Given the description of an element on the screen output the (x, y) to click on. 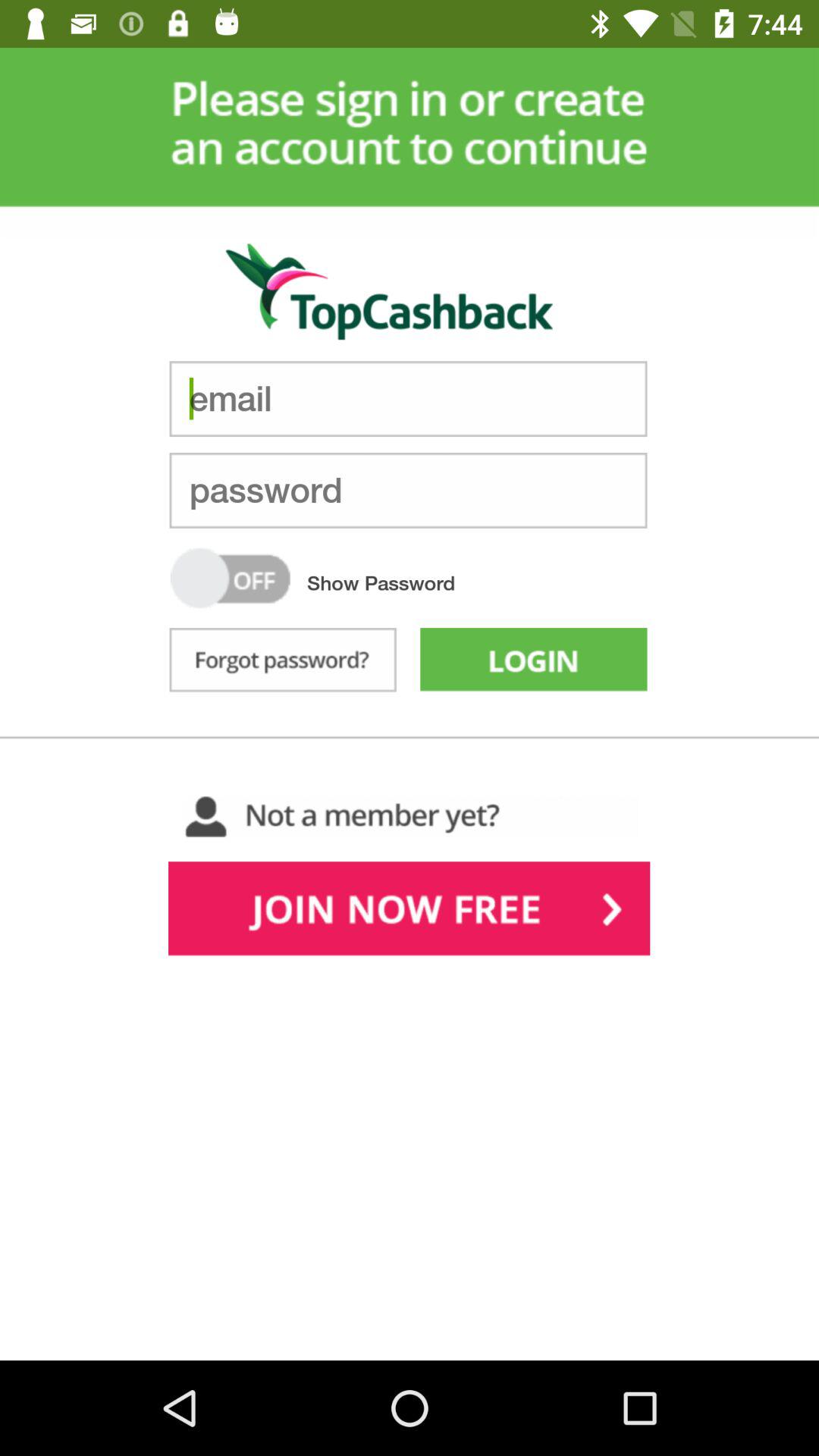
submit login (533, 662)
